Given the description of an element on the screen output the (x, y) to click on. 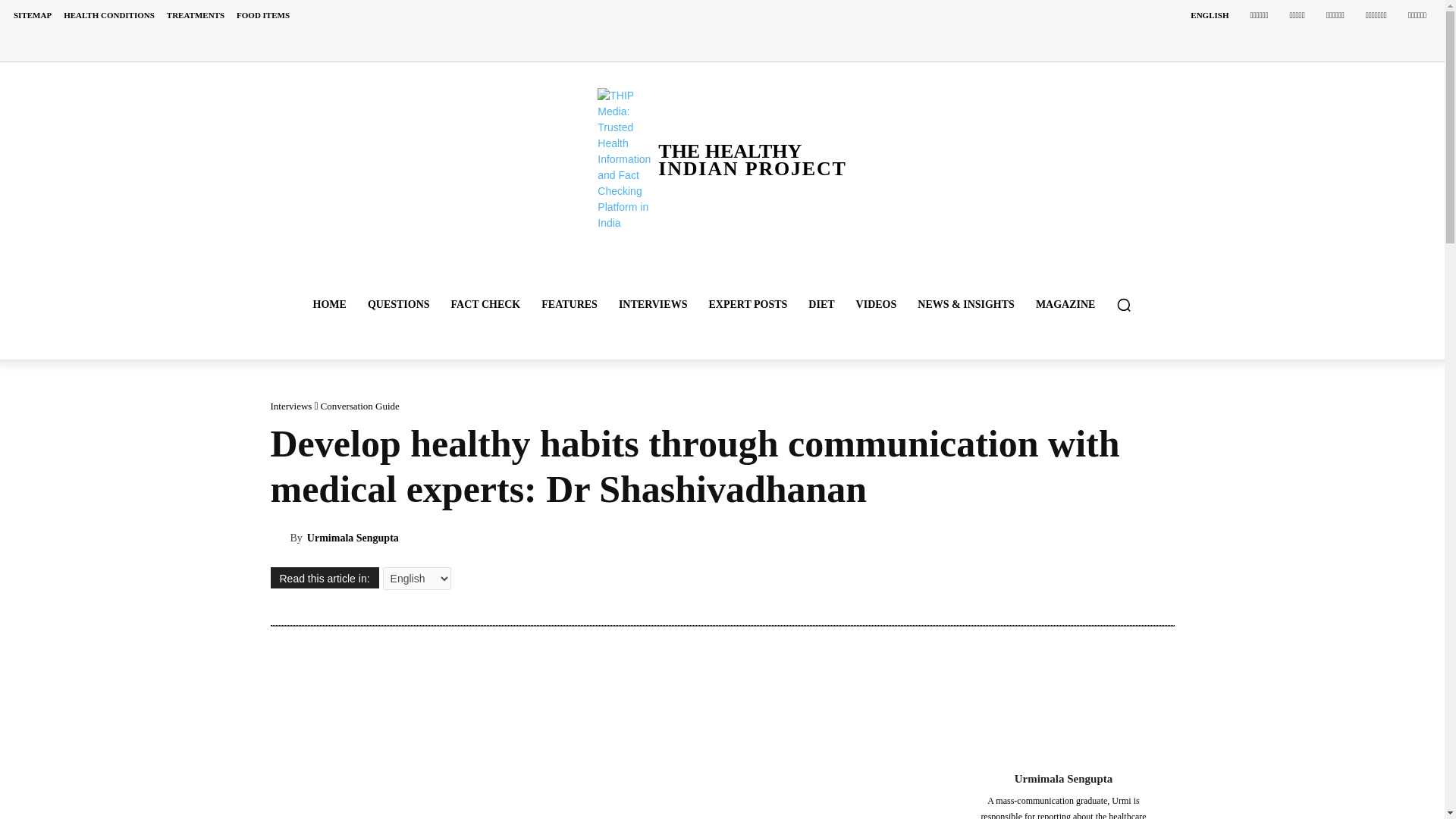
Urmimala Sengupta (279, 538)
TREATMENTS (195, 15)
EXPERT POSTS (747, 304)
QUESTIONS (398, 304)
HEALTH CONDITIONS (109, 15)
SITEMAP (32, 15)
VIDEOS (876, 304)
DIET (820, 304)
FEATURES (569, 304)
INTERVIEWS (653, 304)
ENGLISH (1209, 14)
FACT CHECK (486, 304)
HOME (329, 304)
